Given the description of an element on the screen output the (x, y) to click on. 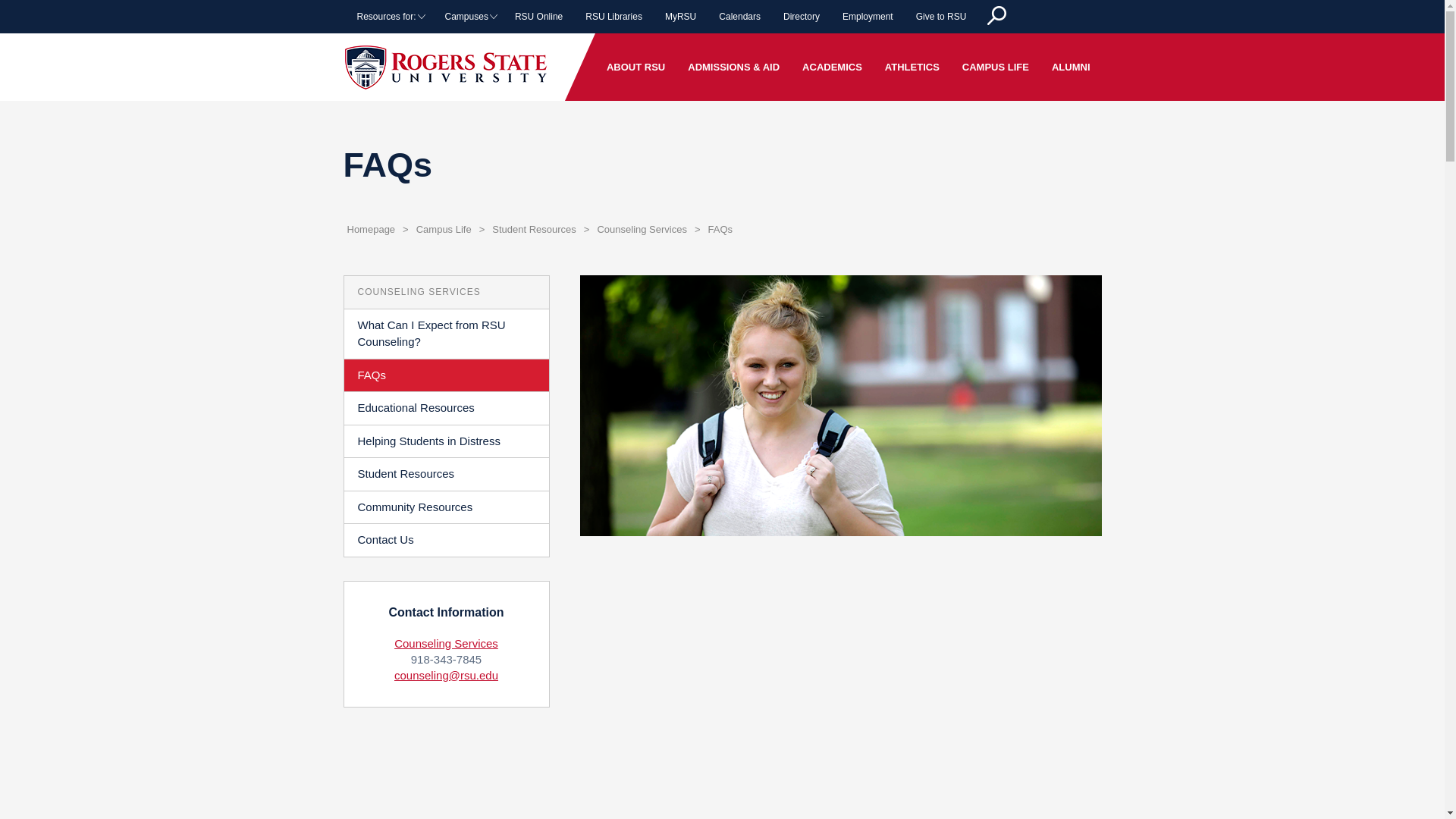
Employment (867, 16)
Give to RSU (941, 16)
MyRSU (680, 16)
Student Resources (533, 229)
Homepage (370, 229)
Directory (801, 16)
FAQs (720, 229)
Calendars (739, 16)
RSU Online (538, 16)
Counseling Services (641, 229)
RSU Libraries (613, 16)
Campus Life (444, 229)
ABOUT RSU (636, 66)
